Given the description of an element on the screen output the (x, y) to click on. 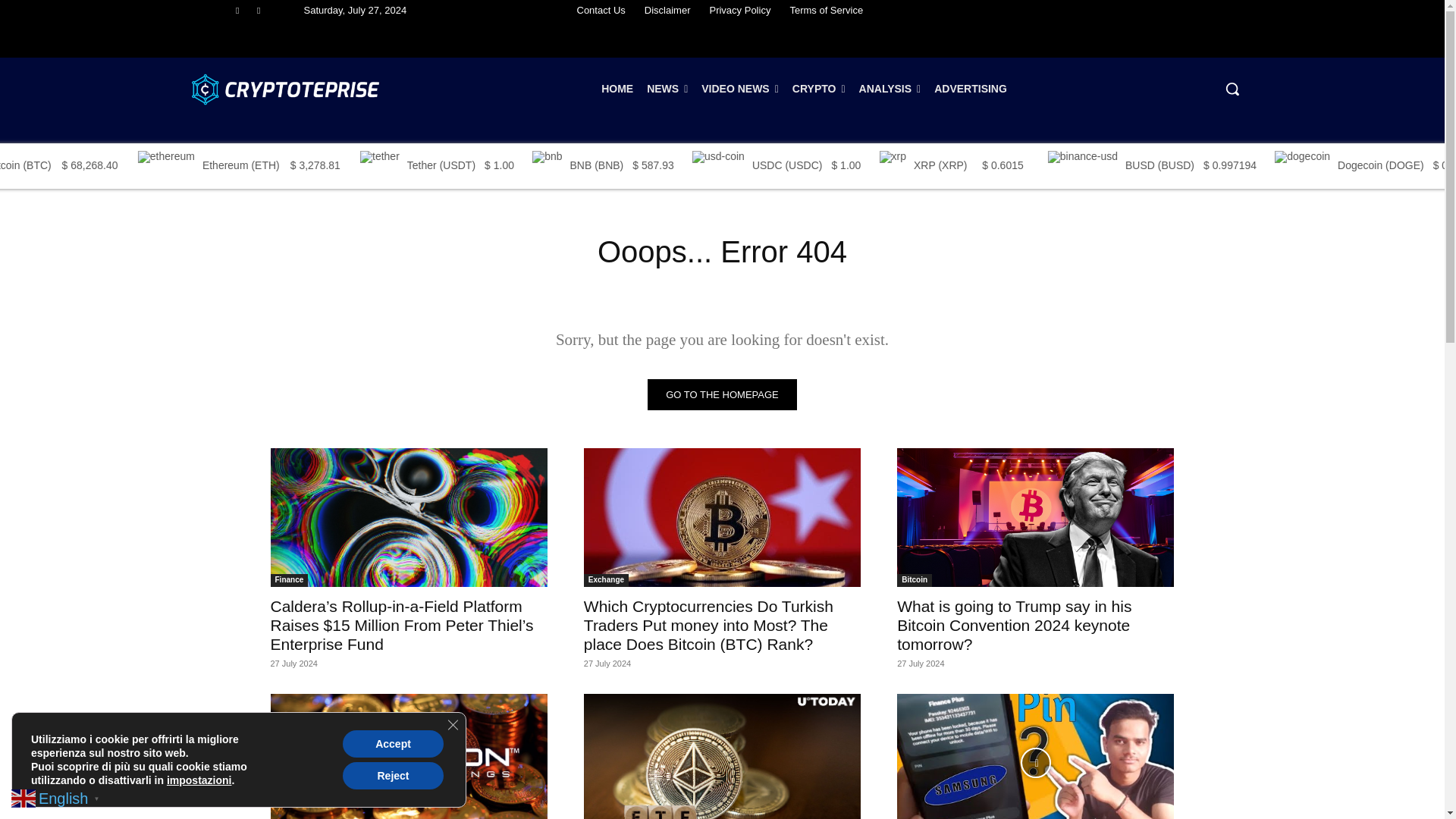
NEWS (667, 88)
Go to the homepage (721, 394)
Twitter (258, 9)
Disclaimer (667, 10)
HOME (617, 88)
Contact Us (600, 10)
Facebook (237, 9)
Terms of Service (826, 10)
Privacy Policy (739, 10)
